Given the description of an element on the screen output the (x, y) to click on. 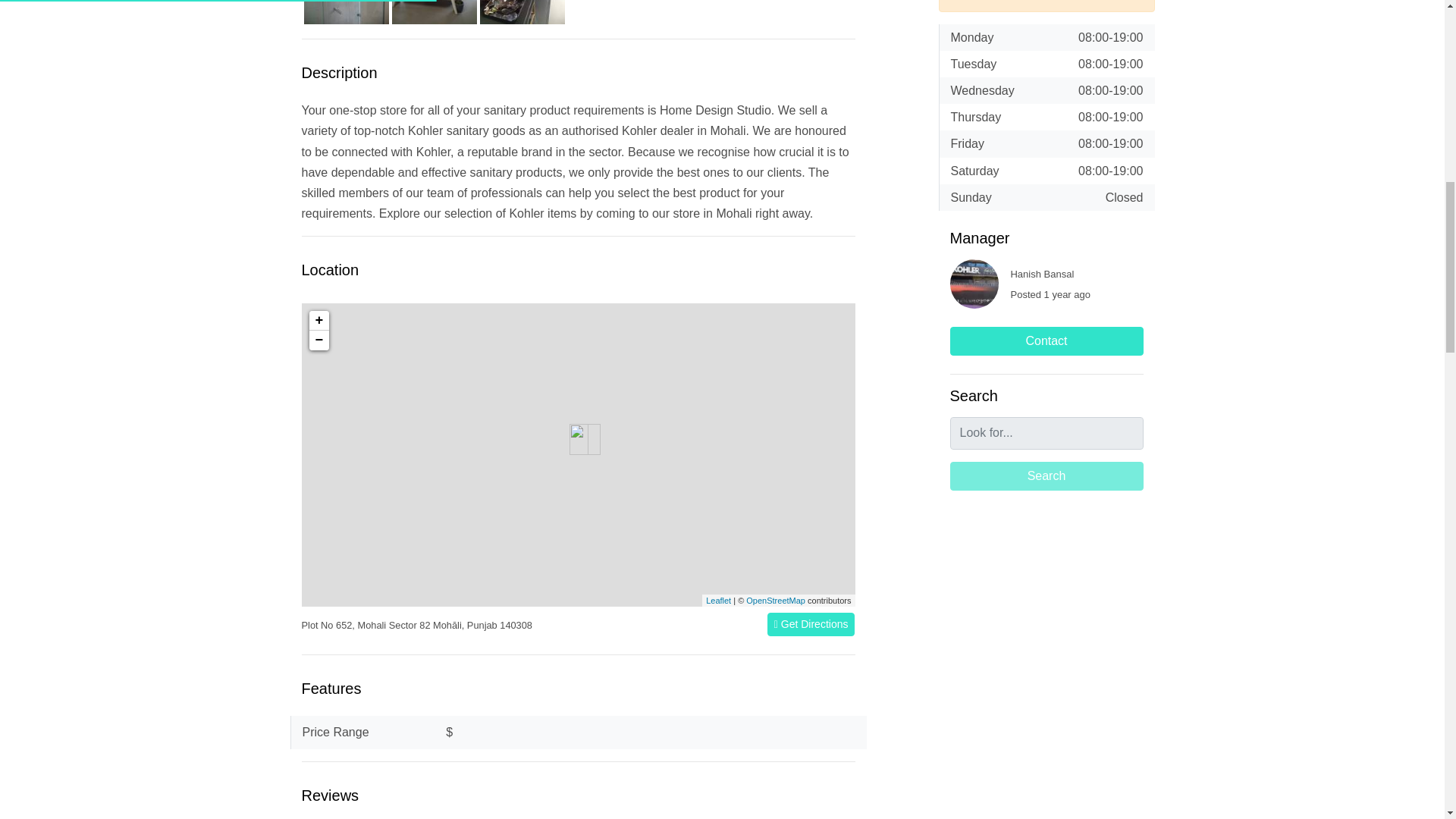
A JS library for interactive maps (718, 600)
Search (1045, 475)
Zoom in (318, 320)
Zoom out (318, 340)
